Given the description of an element on the screen output the (x, y) to click on. 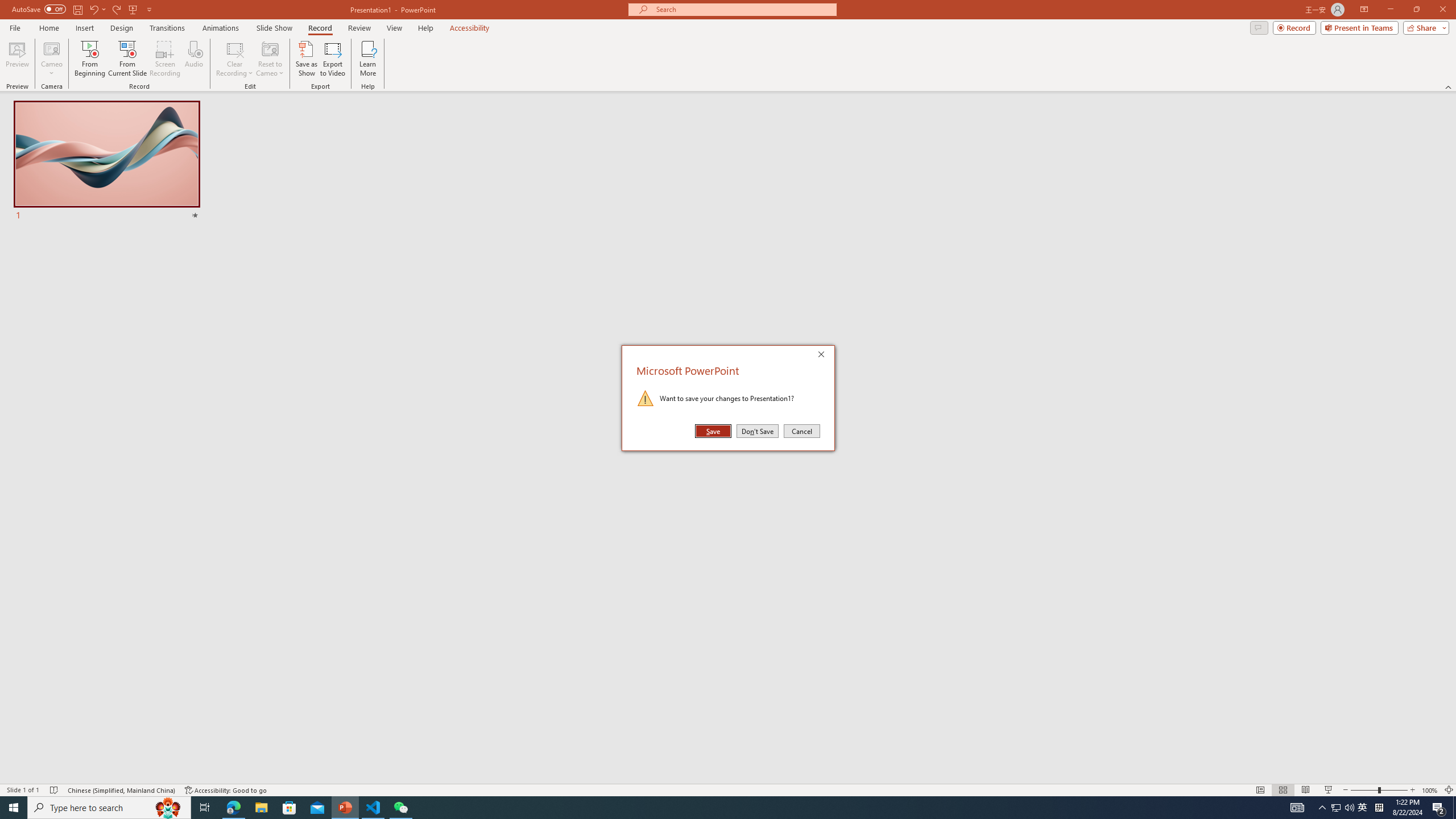
Clear Recording (234, 58)
Export to Video (332, 58)
